Given the description of an element on the screen output the (x, y) to click on. 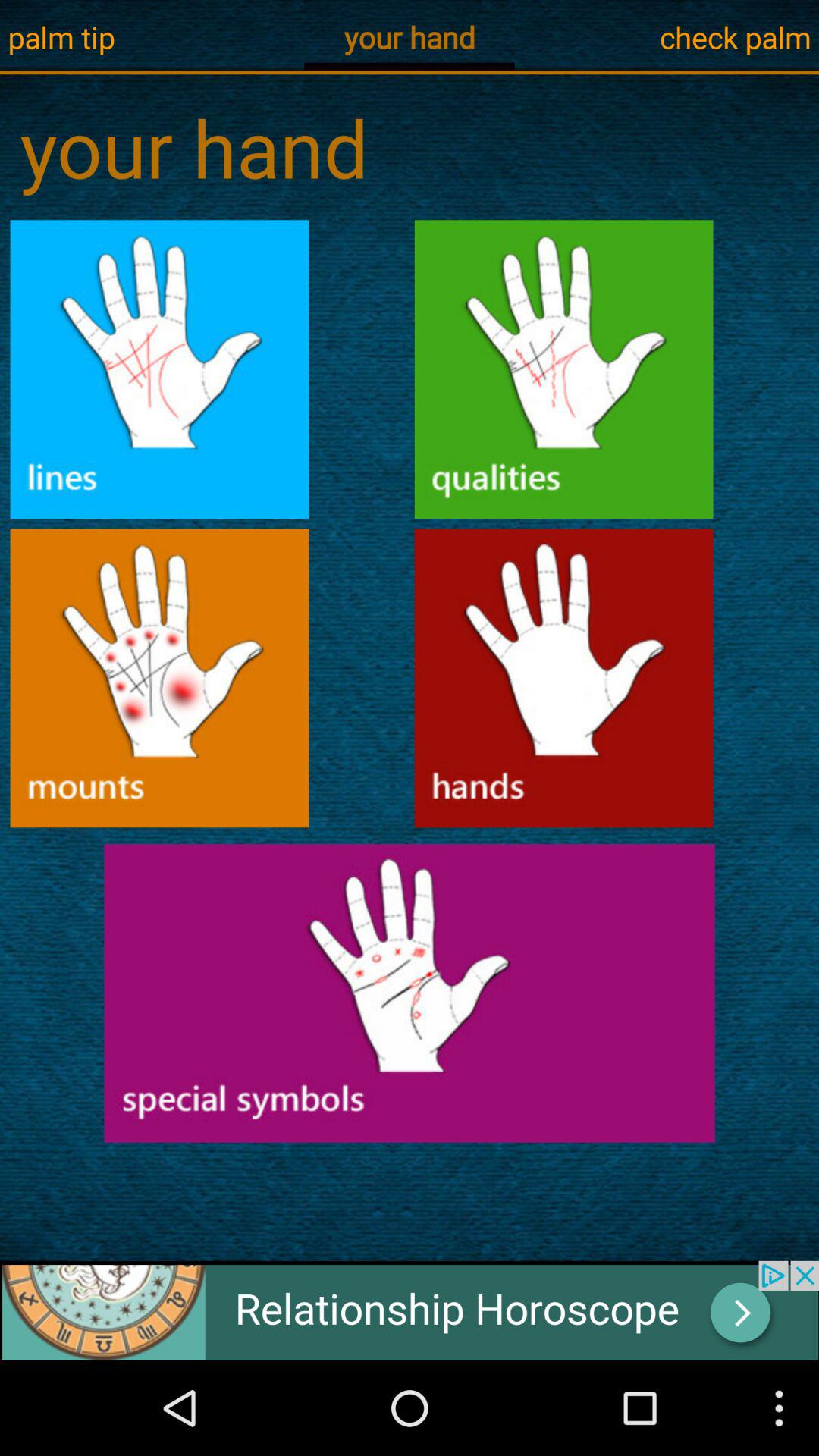
choose special symbols (409, 993)
